Given the description of an element on the screen output the (x, y) to click on. 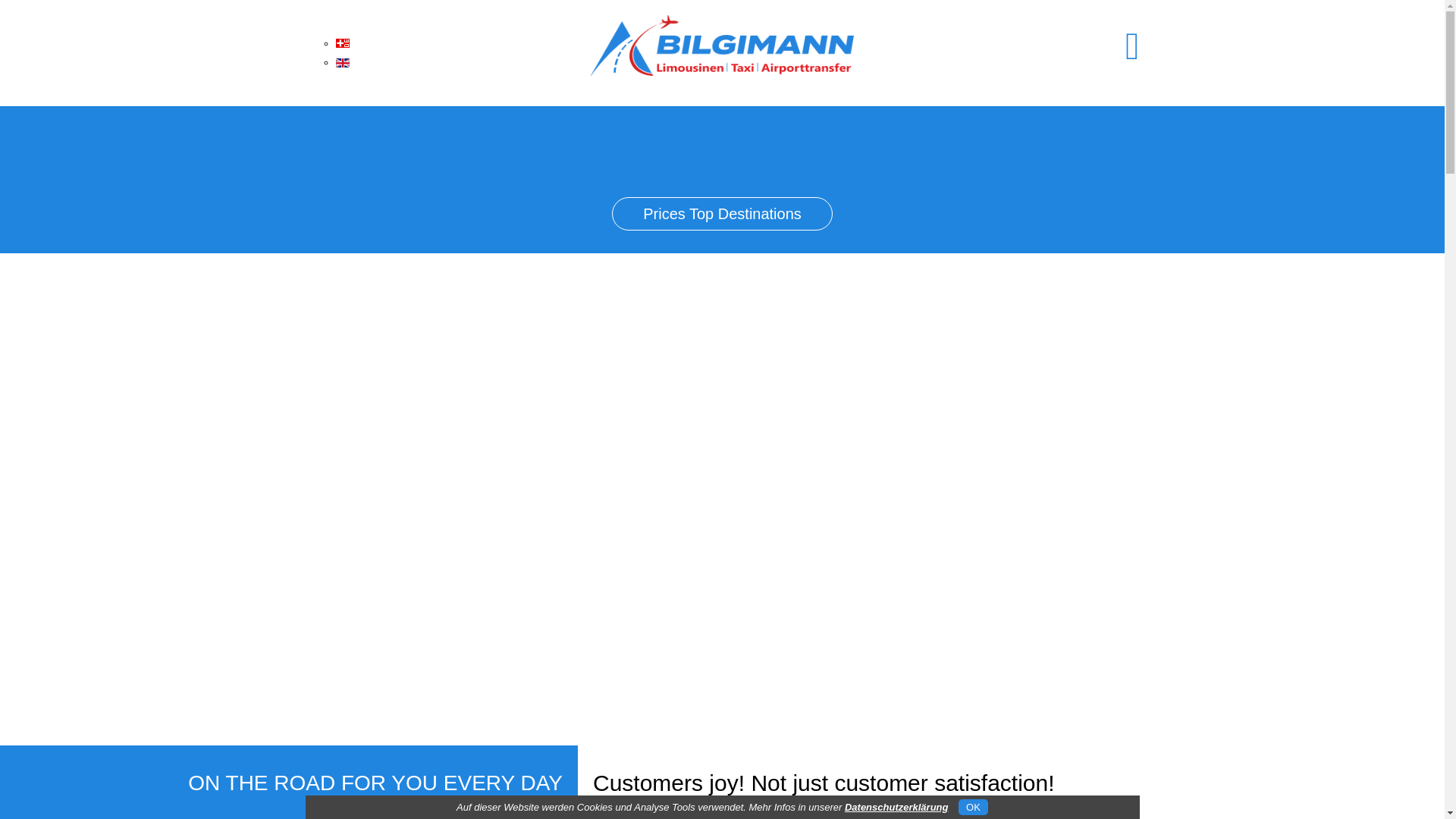
OK Element type: text (973, 807)
English Element type: hover (341, 62)
Deutsch Element type: hover (341, 42)
Prices Top Destinations Element type: text (721, 214)
  Element type: hover (721, 45)
